Given the description of an element on the screen output the (x, y) to click on. 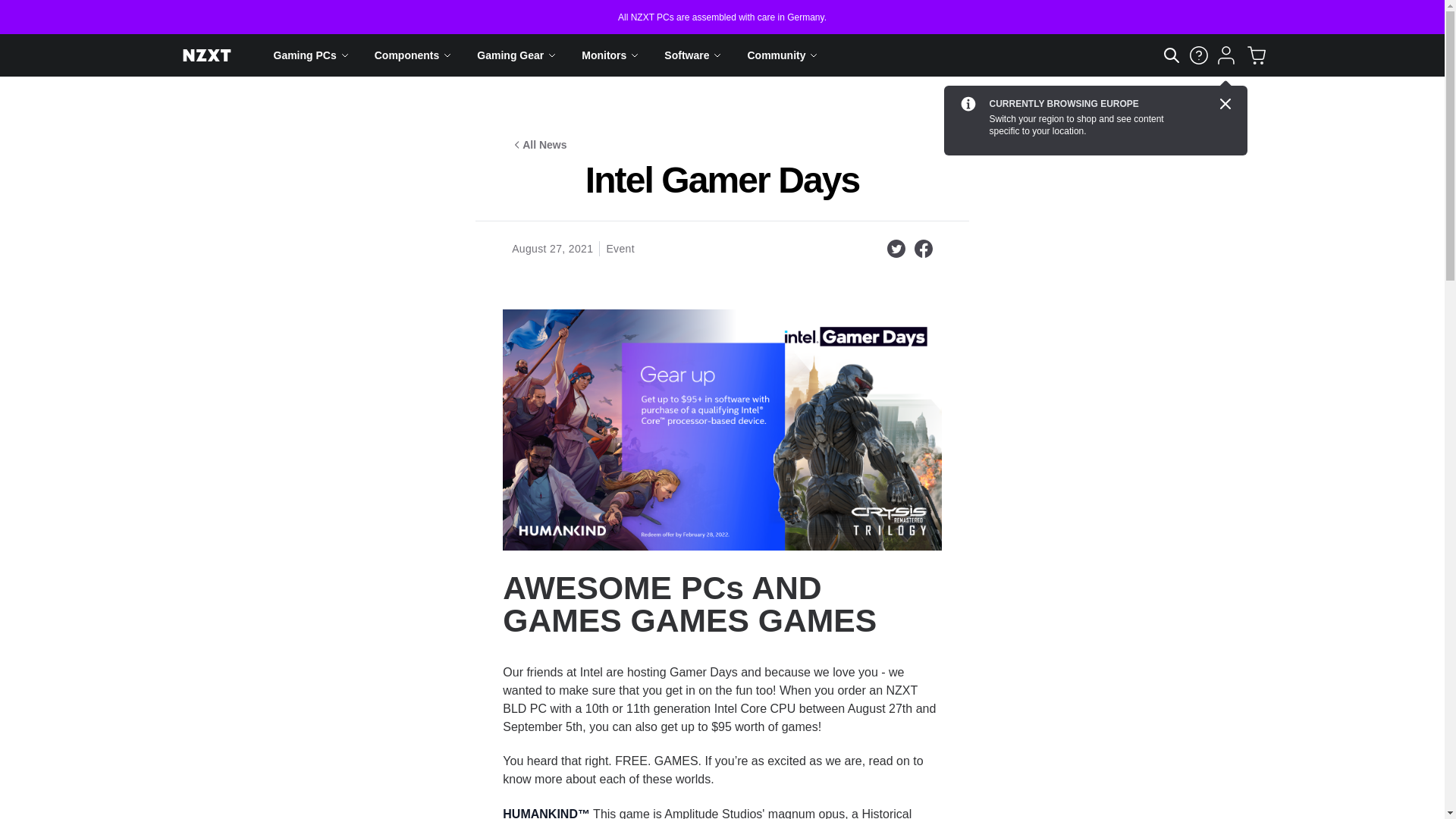
Gaming Gear (517, 54)
Components (413, 54)
Gaming PCs (311, 54)
